Given the description of an element on the screen output the (x, y) to click on. 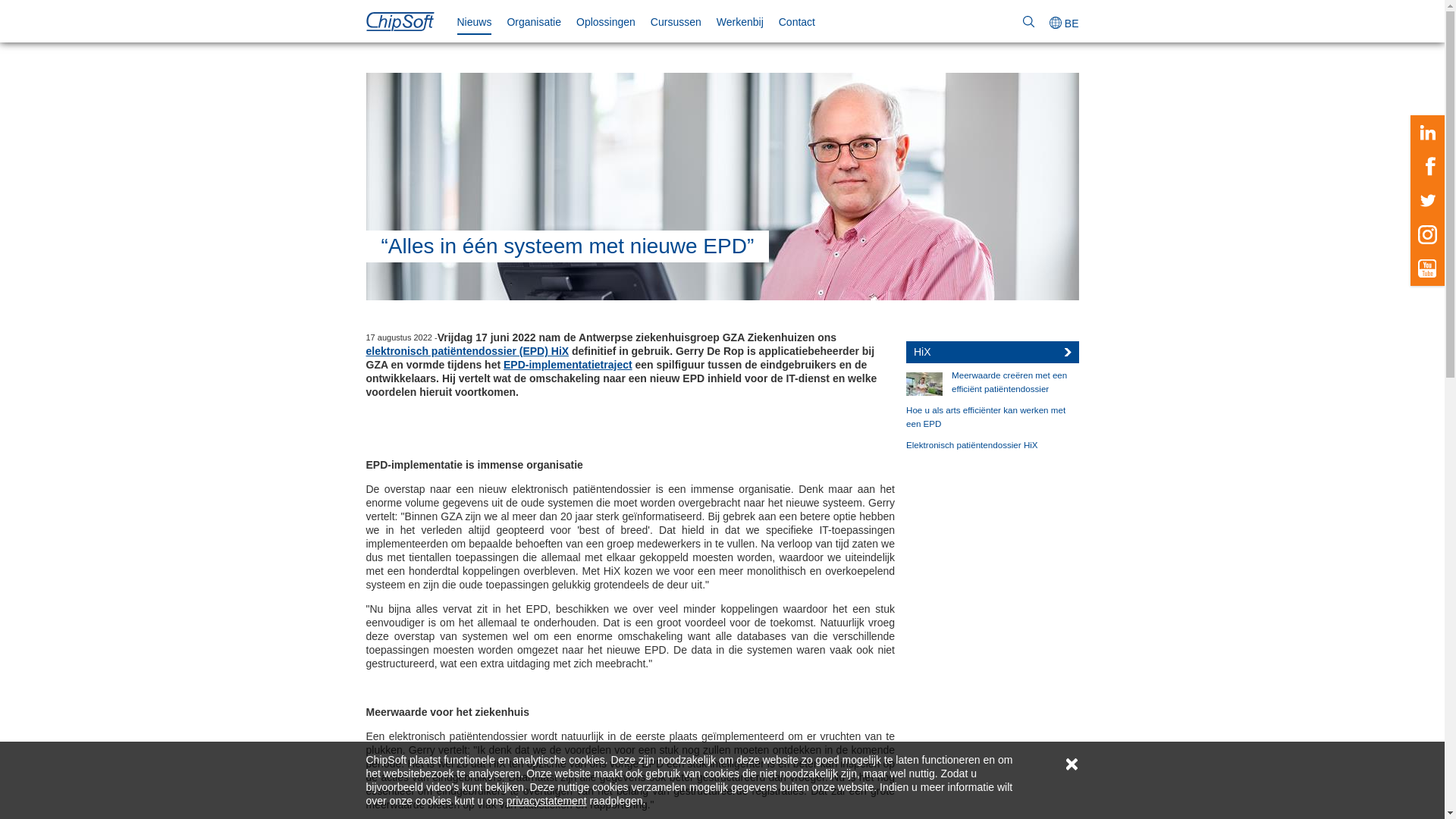
Oplossingen Element type: text (605, 21)
Gerry De Rop, applicatiebeheerder bij GZA Element type: hover (721, 186)
Werkenbij Element type: text (739, 21)
Nieuws Element type: text (473, 22)
Contact Element type: text (796, 21)
Youtube Element type: hover (1427, 268)
Facebook Element type: hover (1427, 166)
privacystatement Element type: text (546, 800)
Instagram Element type: hover (1427, 234)
Cursussen Element type: text (675, 21)
HiX Element type: text (992, 352)
Zoeken Element type: hover (1028, 21)
Organisatie Element type: text (533, 21)
Twitter Element type: hover (1427, 200)
EPD-implementatietraject Element type: text (567, 364)
LinkedIn Element type: hover (1427, 132)
